Given the description of an element on the screen output the (x, y) to click on. 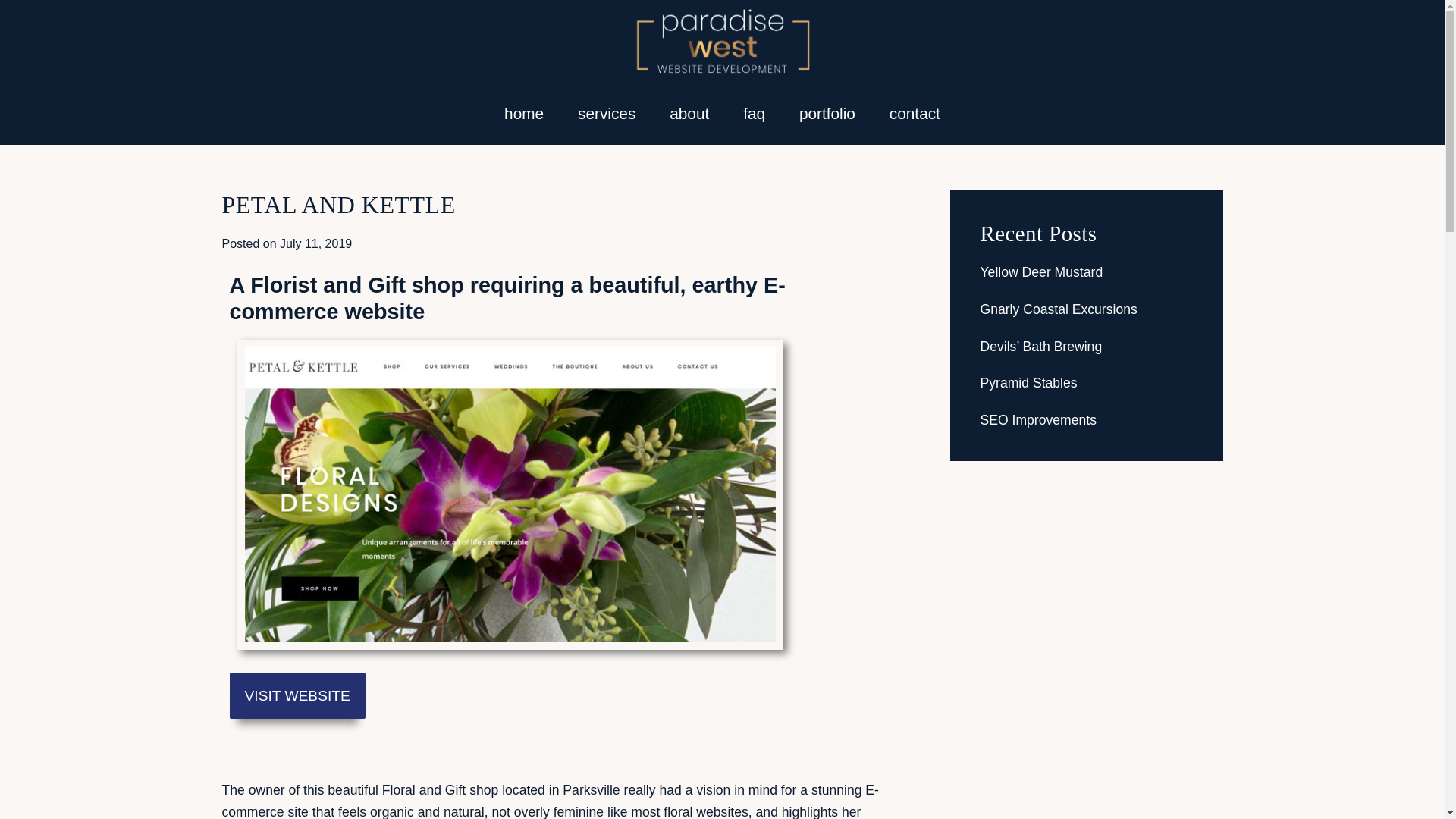
Pyramid Stables (1028, 382)
VISIT WEBSITE (296, 695)
Gnarly Coastal Excursions (1058, 309)
home (524, 114)
portfolio (827, 114)
services (606, 114)
about (688, 114)
faq (754, 114)
SEO Improvements (1037, 419)
